Given the description of an element on the screen output the (x, y) to click on. 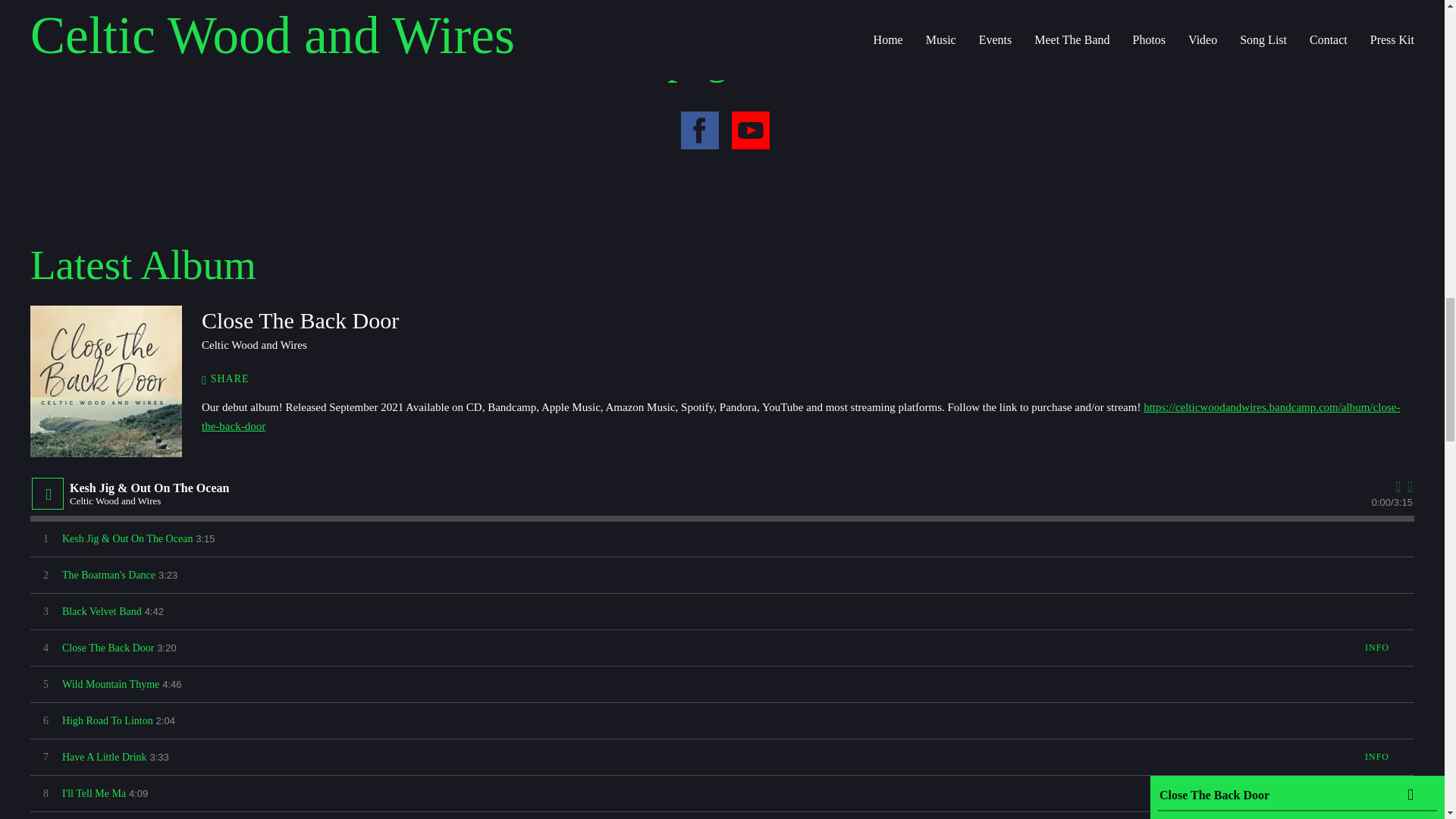
Black Velvet Band (101, 611)
The Boatman's Dance (108, 575)
The Boatman's Dance (108, 575)
Close The Back Door (106, 381)
Share Close The Back Door (233, 378)
SHARE (233, 378)
